Given the description of an element on the screen output the (x, y) to click on. 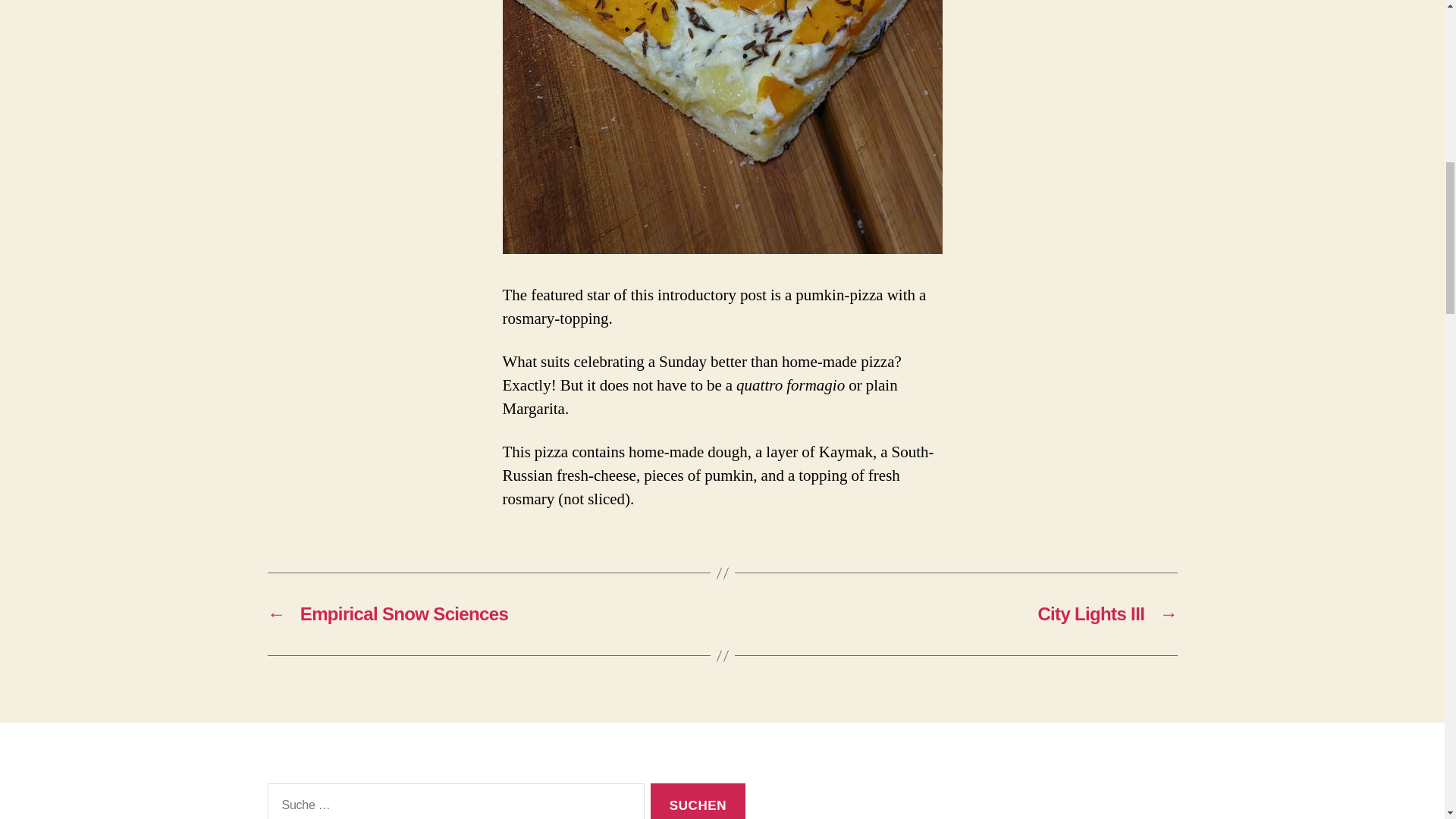
Suchen (697, 800)
Suchen (697, 800)
Suchen (697, 800)
